Given the description of an element on the screen output the (x, y) to click on. 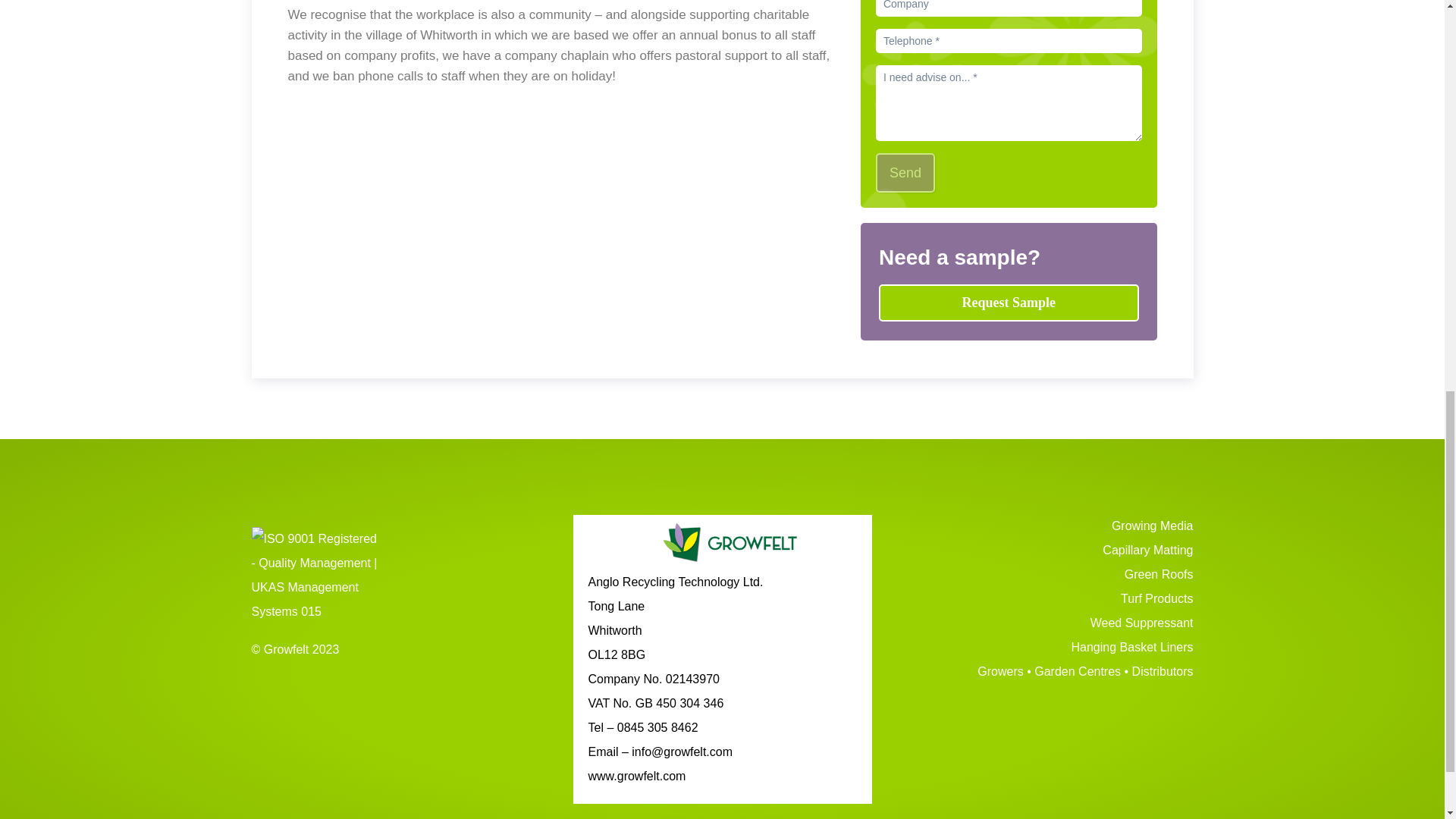
Hanging Basket Liners (1044, 648)
Weed Suppressant (1044, 623)
Send (905, 172)
0845 305 8462 (657, 727)
Capillary Matting (1044, 550)
Growing Media (1044, 526)
www.growfelt.com (636, 775)
Turf Products (1044, 599)
Green Roofs (1044, 575)
Request Sample (1008, 302)
